Given the description of an element on the screen output the (x, y) to click on. 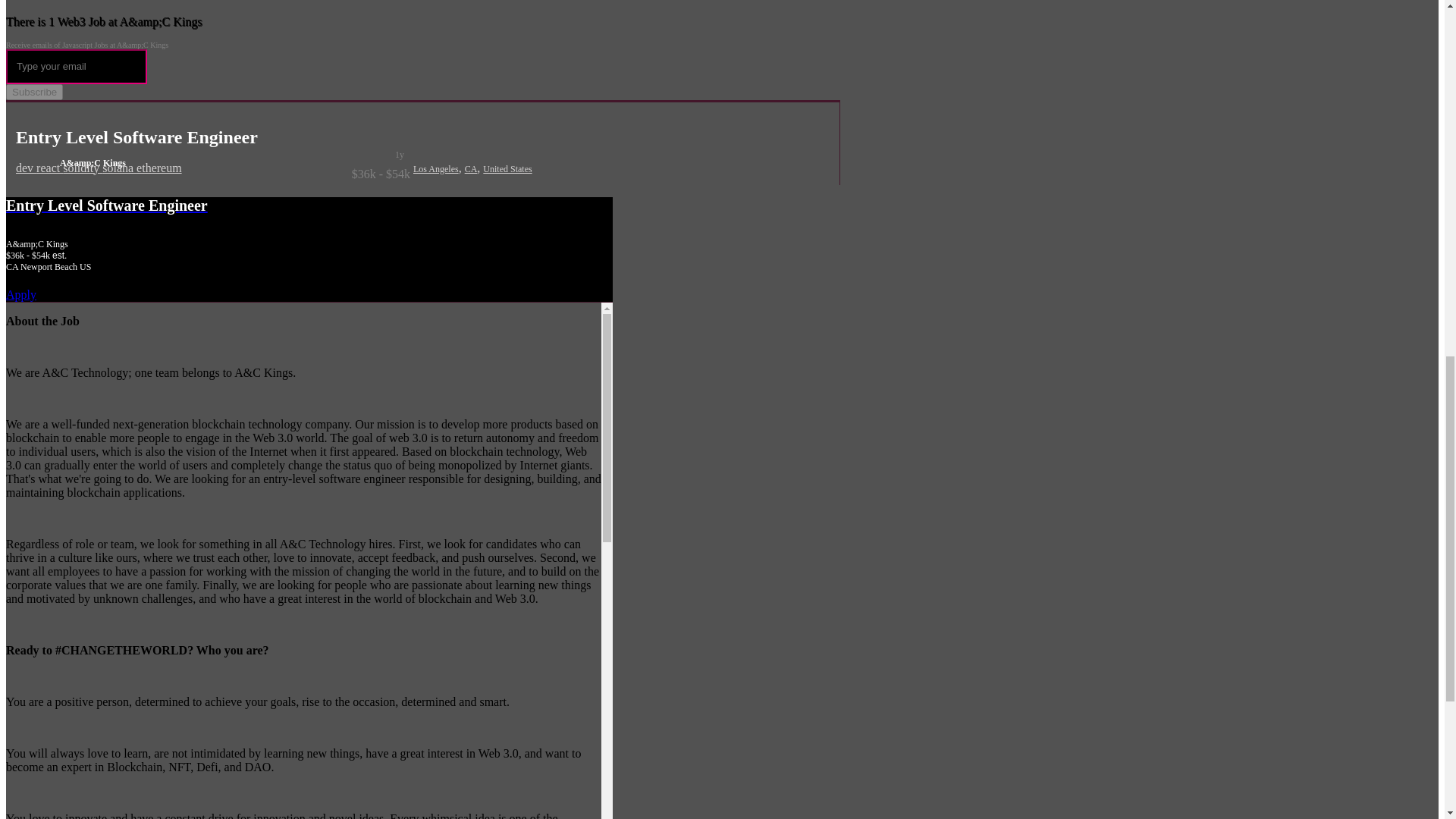
Estimated salary based on similar jobs (213, 173)
Subscribe (33, 91)
Estimated compensation based on similar jobs (308, 255)
